Given the description of an element on the screen output the (x, y) to click on. 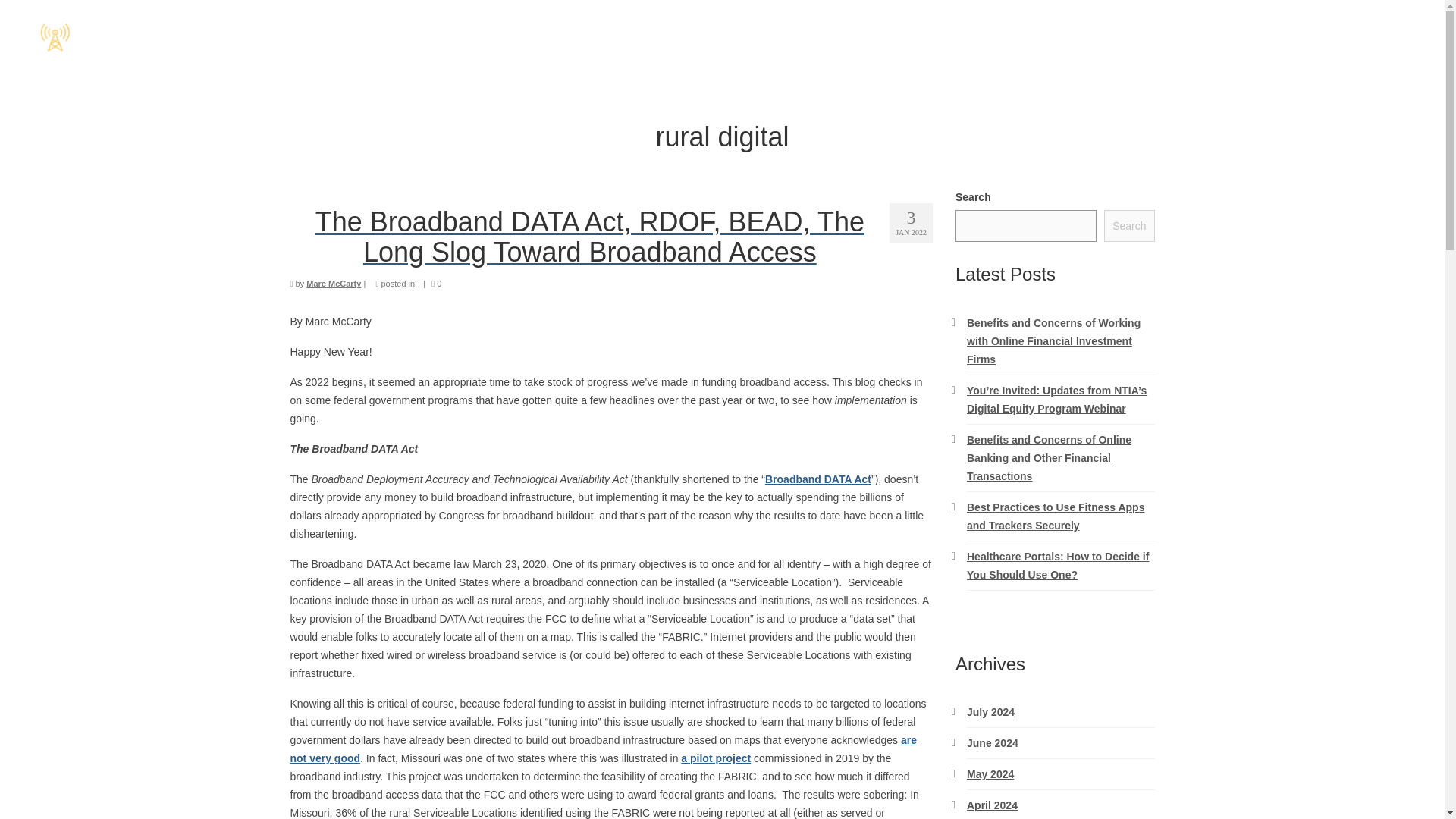
For Missourians  (1273, 36)
For Broadband Planners  (1118, 36)
About  (1375, 36)
